Given the description of an element on the screen output the (x, y) to click on. 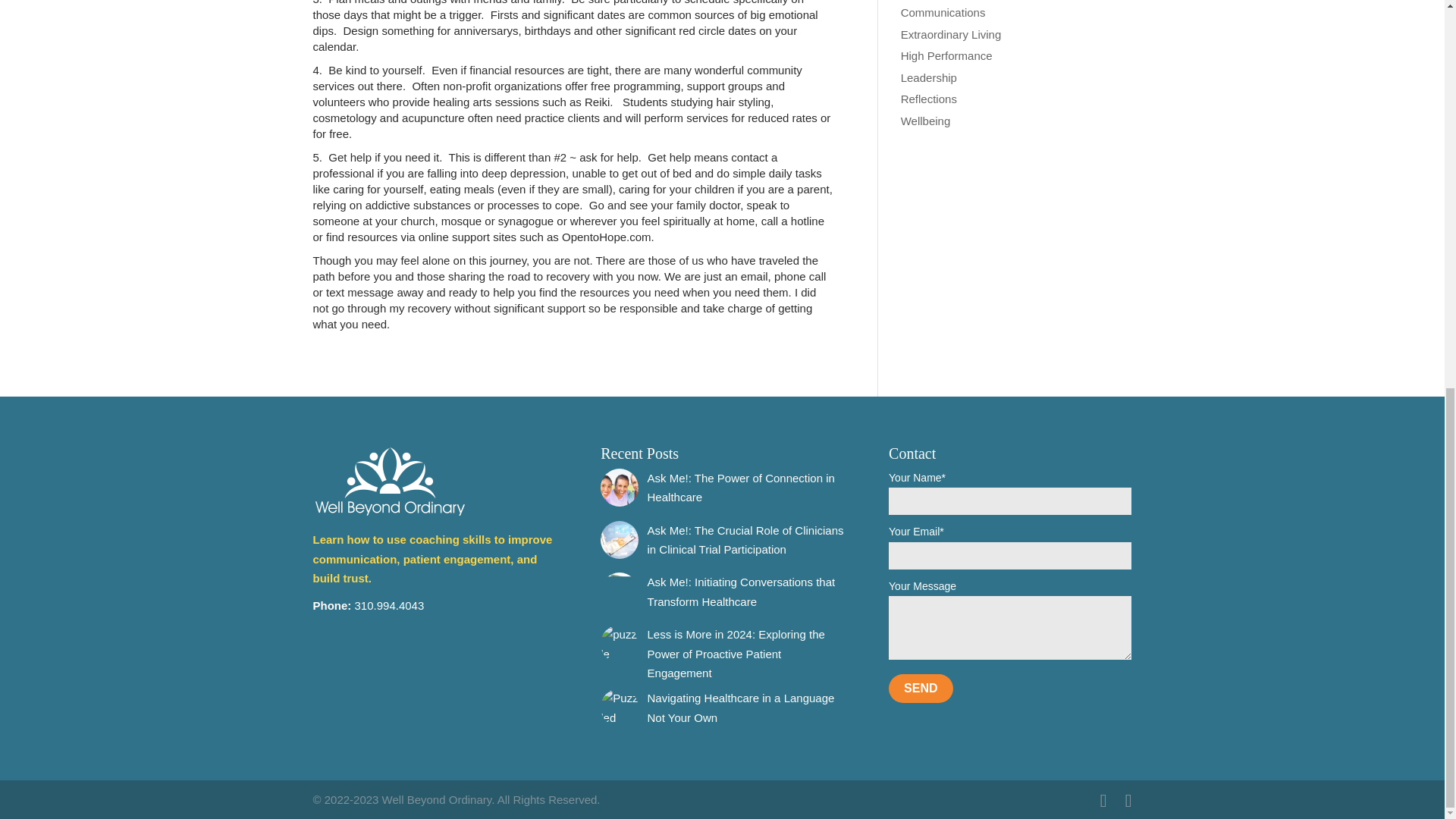
High Performance (946, 55)
Wellbeing (925, 119)
SEND (920, 688)
SEND (920, 688)
Ask Me!: The Power of Connection in Healthcare (740, 487)
Extraordinary Living (951, 33)
Ask Me!: Initiating Conversations that Transform Healthcare (741, 591)
Navigating Healthcare in a Language Not Your Own (740, 707)
